Given the description of an element on the screen output the (x, y) to click on. 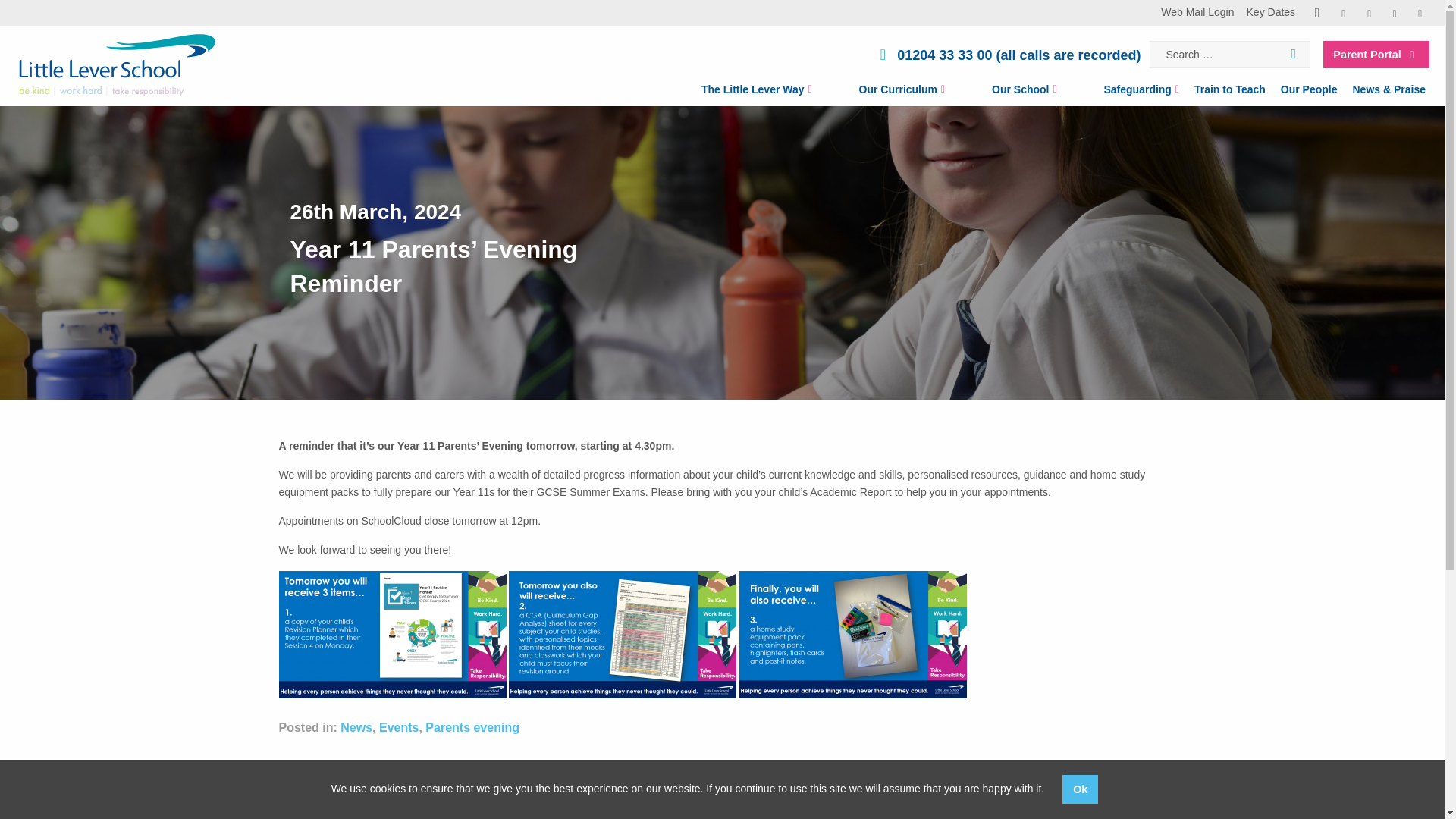
Parent Portal (1376, 53)
Our School (1008, 91)
The Little Lever Way (740, 91)
littleleverschool (1316, 12)
littleleverschool (1368, 12)
Web Mail Login (1197, 12)
Our Curriculum (885, 91)
Key Dates (1270, 12)
